Given the description of an element on the screen output the (x, y) to click on. 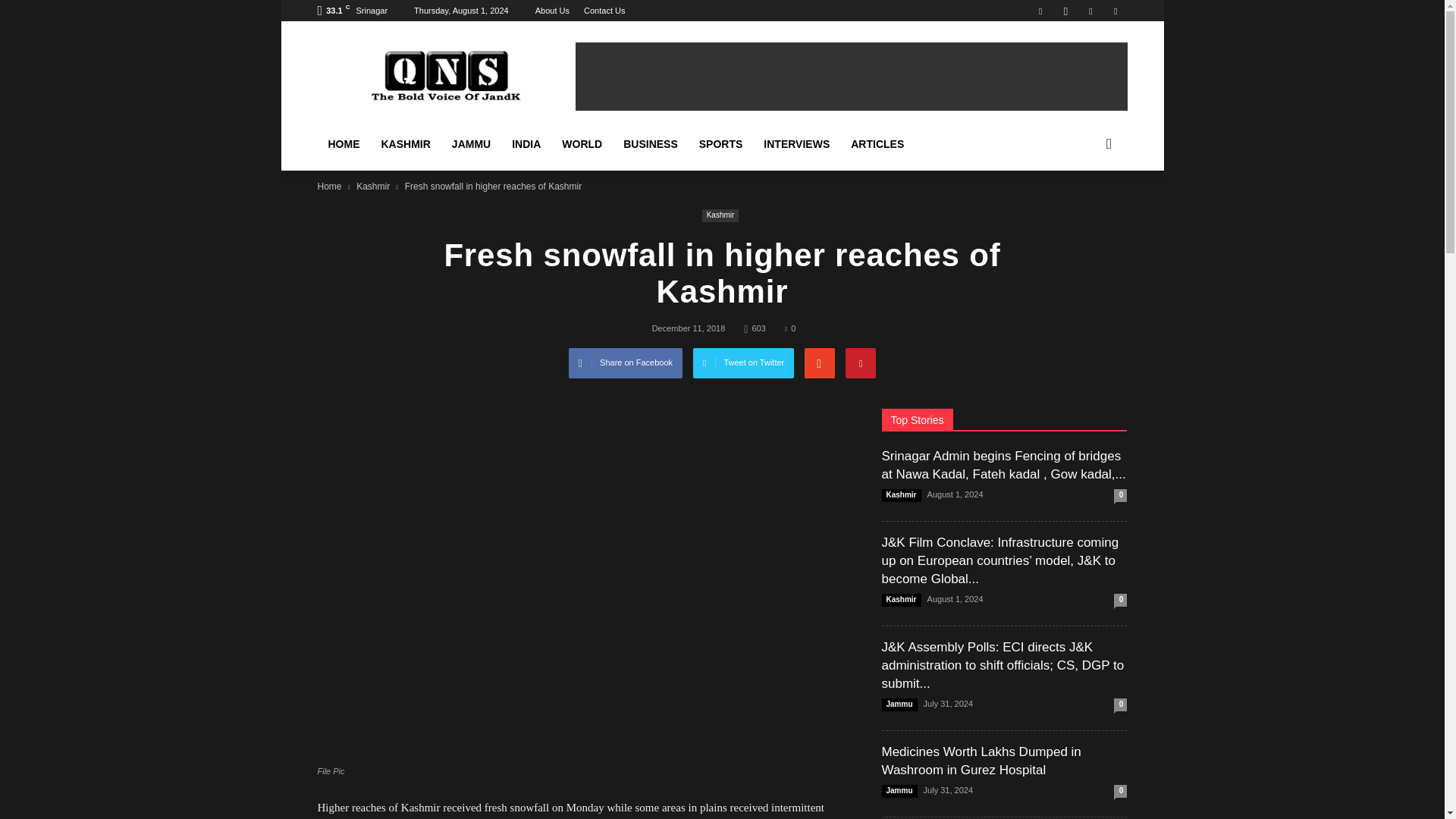
JAMMU (470, 143)
BUSINESS (650, 143)
Twitter (1090, 10)
Kashmir (373, 185)
WORLD (581, 143)
Youtube (1114, 10)
INDIA (525, 143)
KASHMIR (405, 143)
Home (328, 185)
HOME (343, 143)
